Given the description of an element on the screen output the (x, y) to click on. 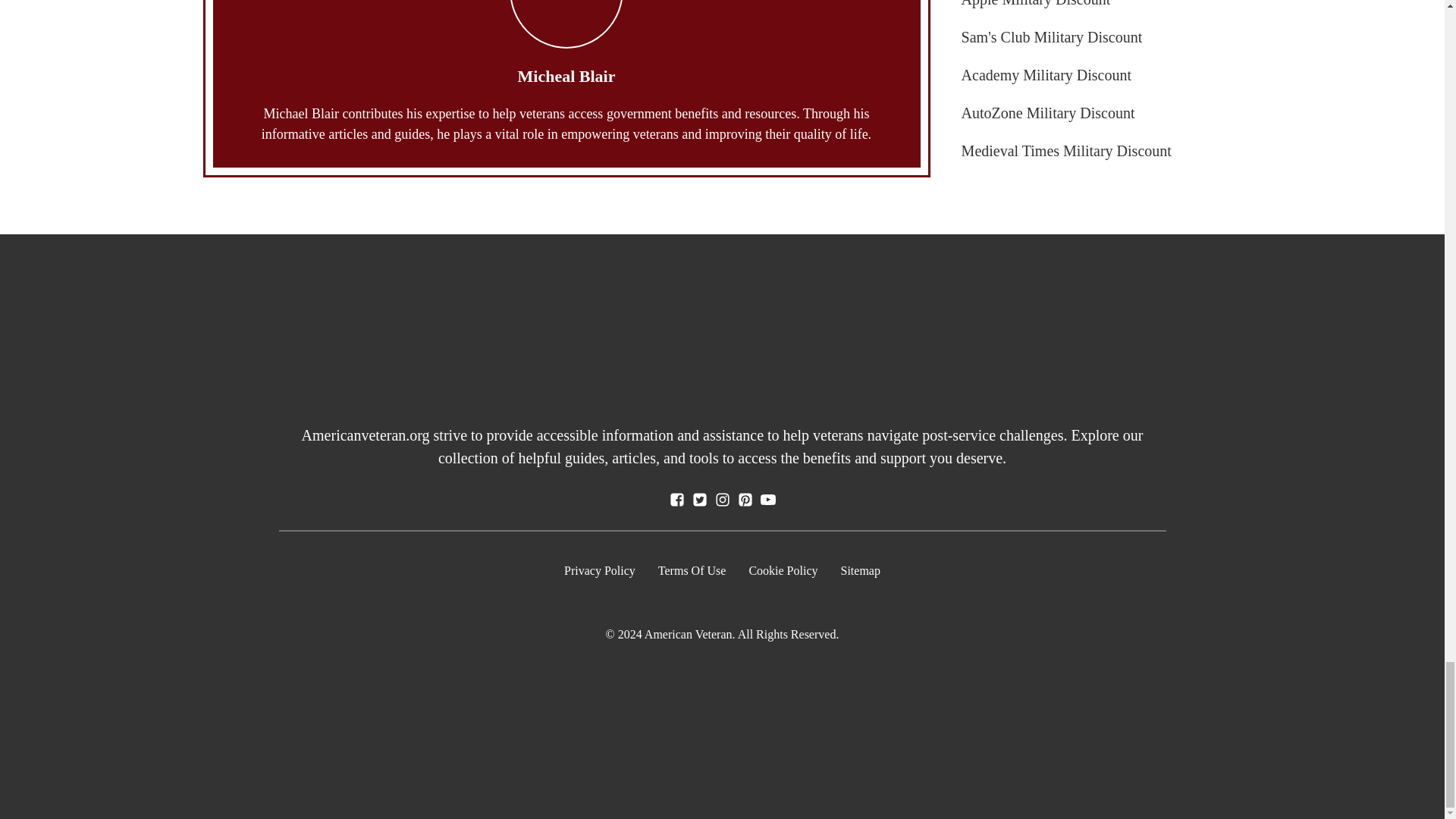
DMCA.com Protection Status (721, 771)
Micheal Blair (566, 75)
